Given the description of an element on the screen output the (x, y) to click on. 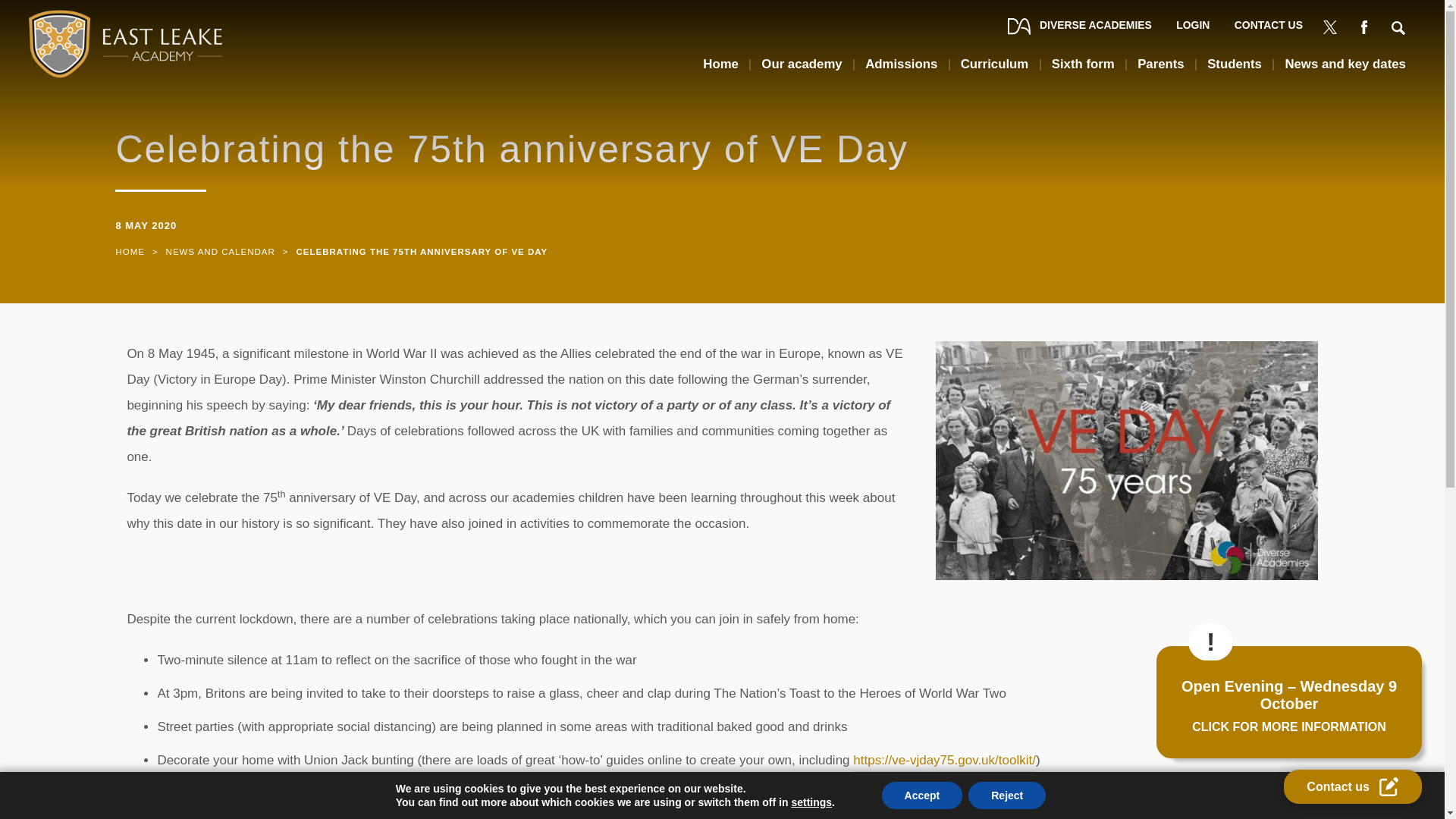
Curriculum (994, 70)
Home (720, 70)
Our academy (801, 70)
Home (129, 251)
Celebrating the 75th anniversary of VE Day (421, 251)
Admissions (900, 70)
Sixth form (1083, 70)
